Given the description of an element on the screen output the (x, y) to click on. 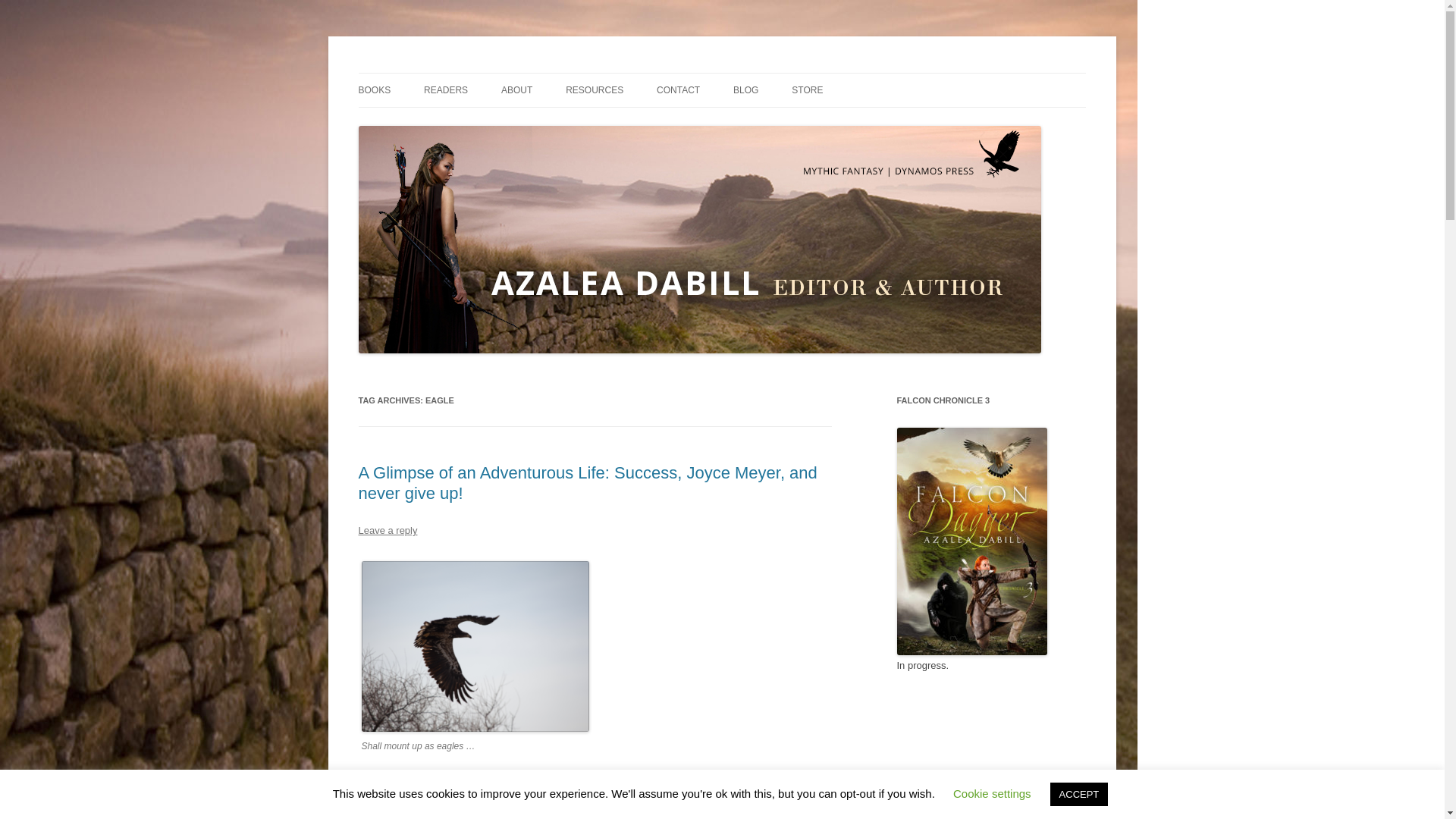
READERS (445, 90)
STORE (807, 90)
ABOUT (516, 90)
RESOURCES (594, 90)
PRIVACY POLICY (732, 122)
SHOPPING CART (867, 122)
32 FREE HOW-TO WRITE FANTASY PDFS (641, 131)
CONTACT (678, 90)
PRAY FOR YOUR AUTHORS (499, 122)
Leave a reply (387, 530)
FALCON HEART I (433, 122)
BOOKS (374, 90)
